Given the description of an element on the screen output the (x, y) to click on. 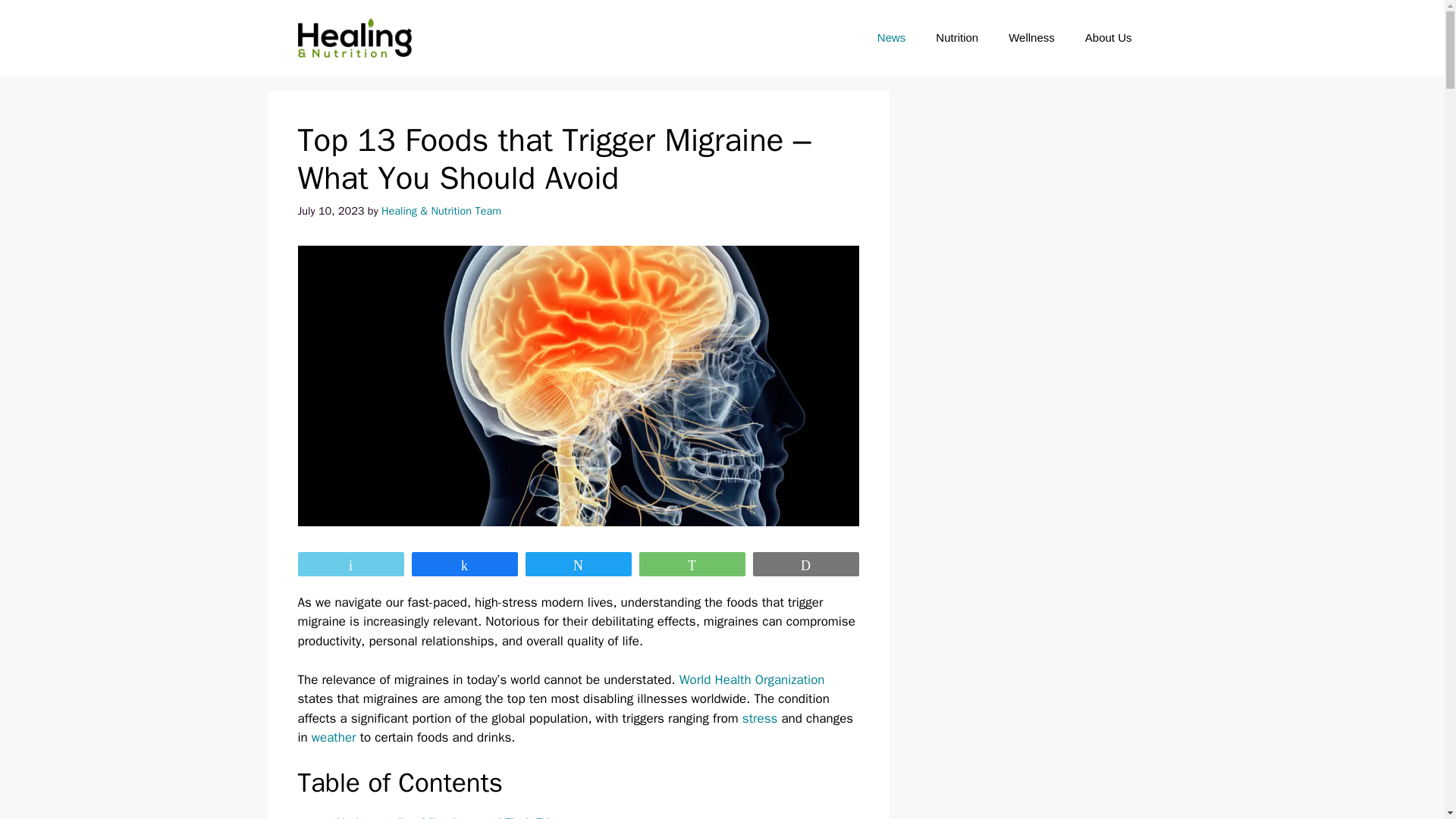
stress (759, 718)
Wellness (1031, 37)
News (891, 37)
World Health Organization (752, 679)
About Us (1108, 37)
Nutrition (956, 37)
Understanding Migraines and Their Triggers (458, 816)
weather (333, 737)
